Given the description of an element on the screen output the (x, y) to click on. 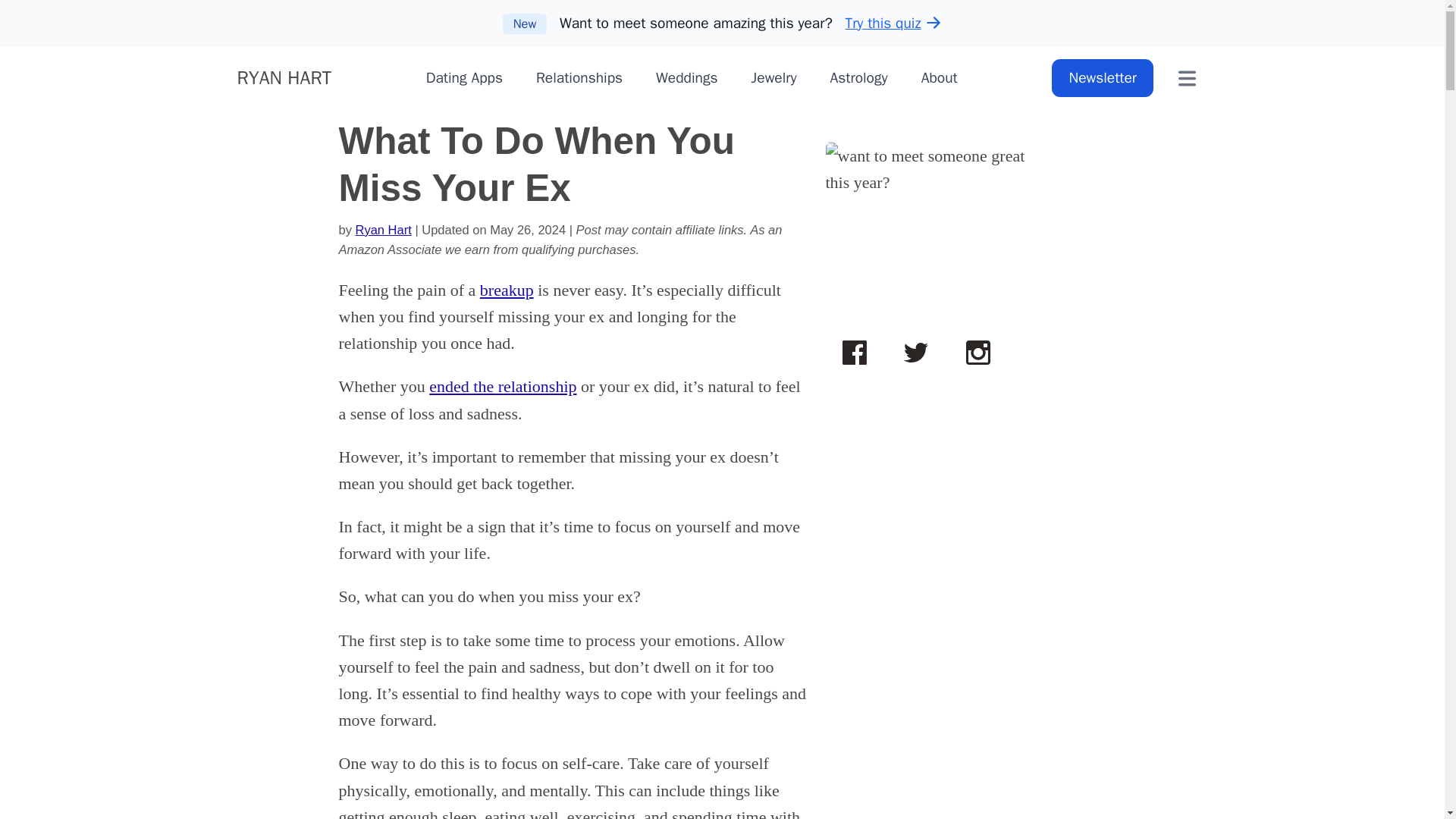
Instagram profile (976, 352)
Dating Apps (464, 77)
RYAN HART (283, 78)
About (939, 77)
Newsletter (1102, 77)
Astrology (858, 77)
Jewelry (773, 77)
breakup (507, 289)
Ryan Hart (383, 229)
Try this quiz (893, 22)
Facebook profile (854, 352)
Open main menu (1187, 78)
ended the relationship (502, 385)
Relationships (579, 77)
Twitter profile (915, 352)
